Given the description of an element on the screen output the (x, y) to click on. 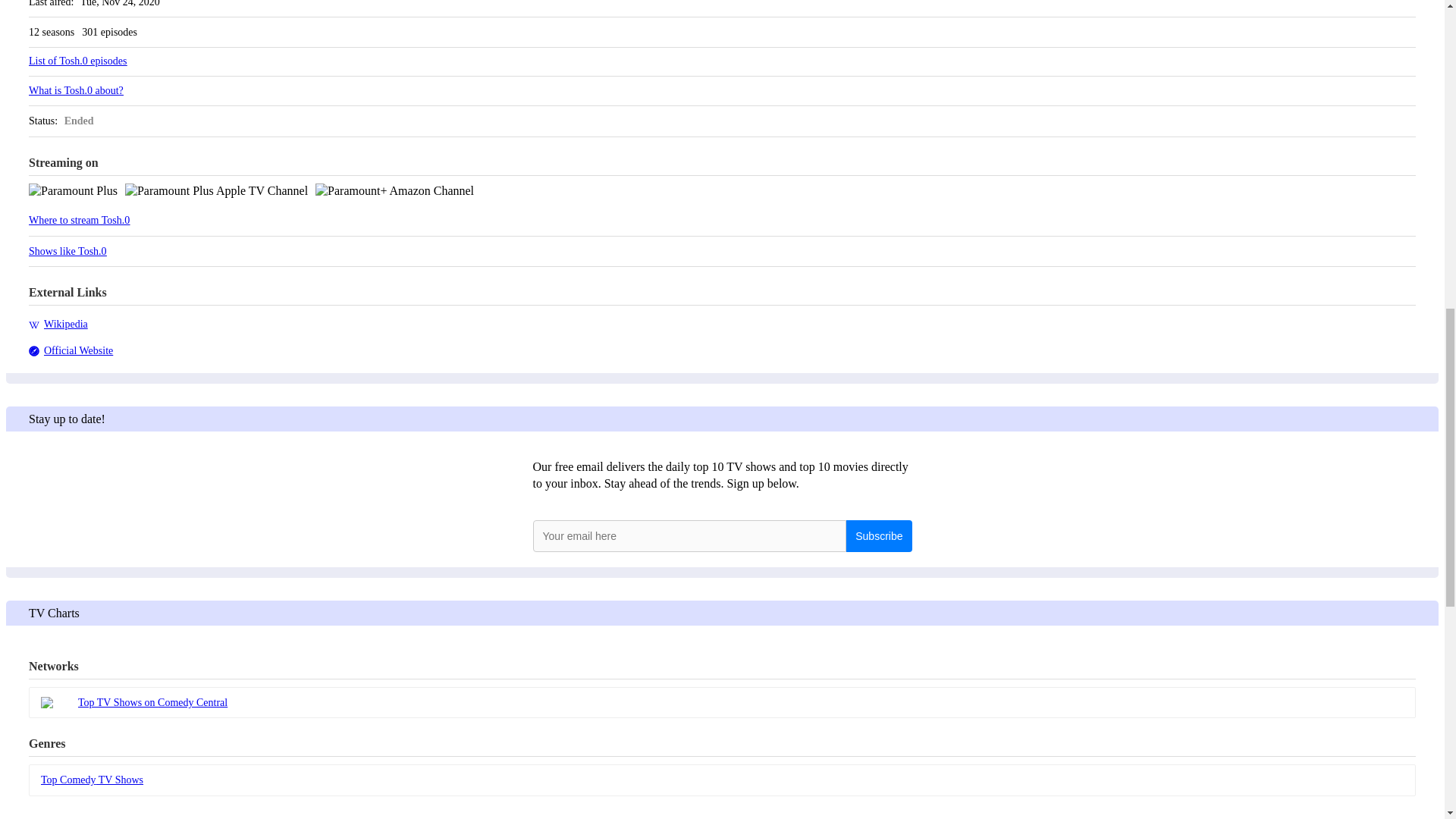
Subscribe (878, 536)
Top Comedy TV Shows (722, 779)
Top TV Shows on Comedy Central (722, 702)
